Given the description of an element on the screen output the (x, y) to click on. 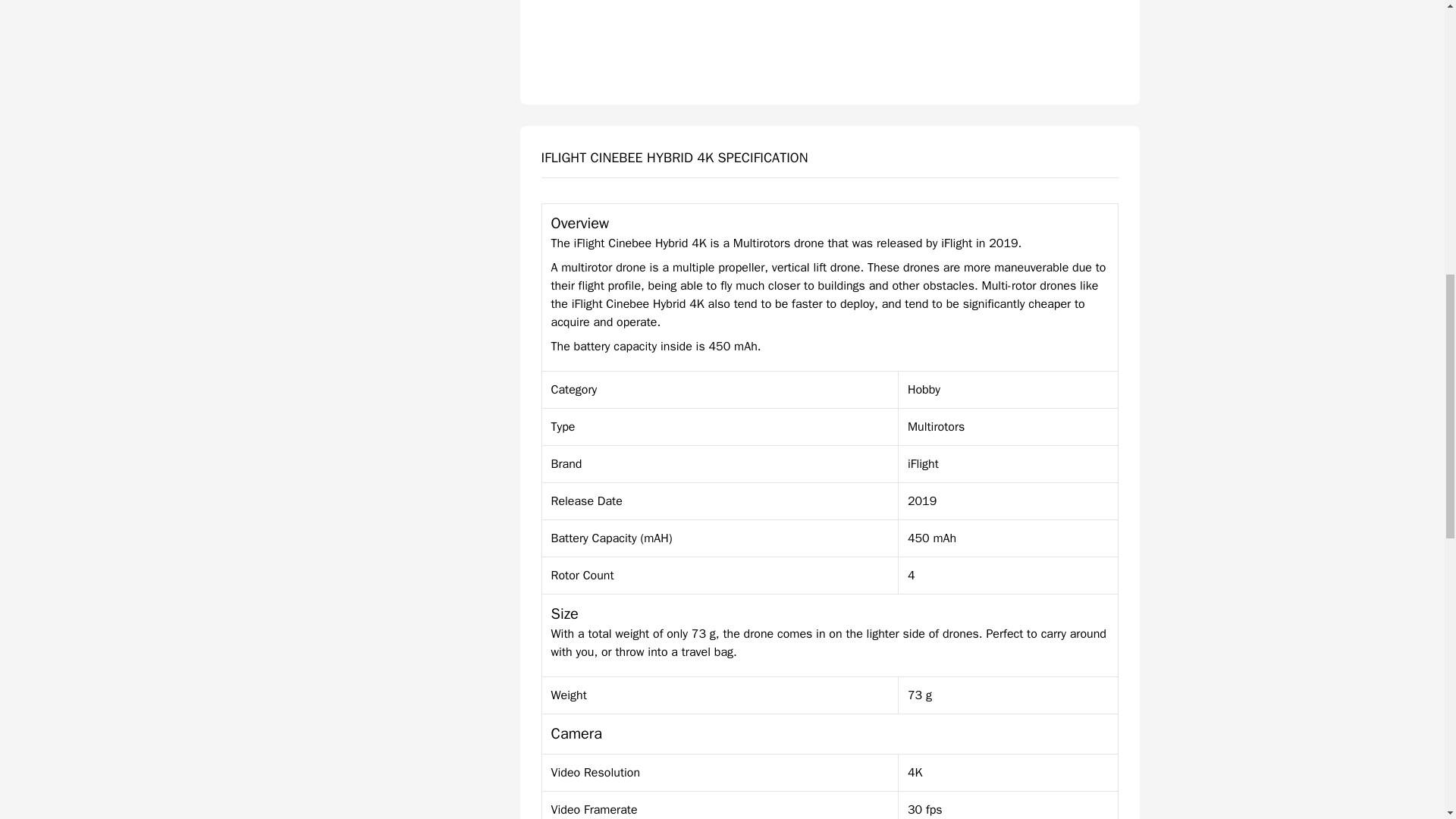
iFlight Cinebee Hybrid 4K (829, 41)
